Given the description of an element on the screen output the (x, y) to click on. 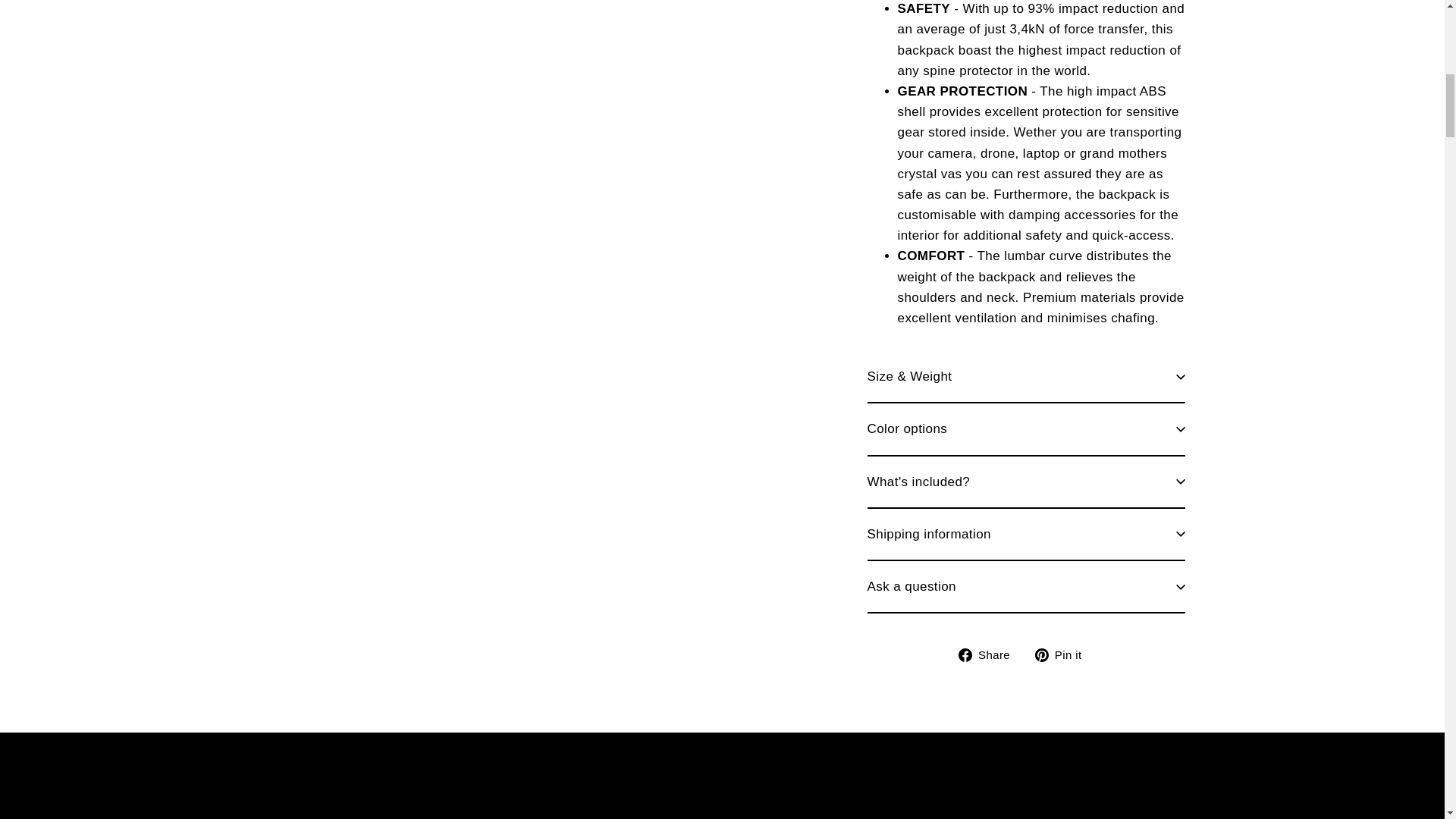
Share on Facebook (990, 654)
Pin on Pinterest (1064, 654)
ICON-HAMBURGER (130, 47)
